Given the description of an element on the screen output the (x, y) to click on. 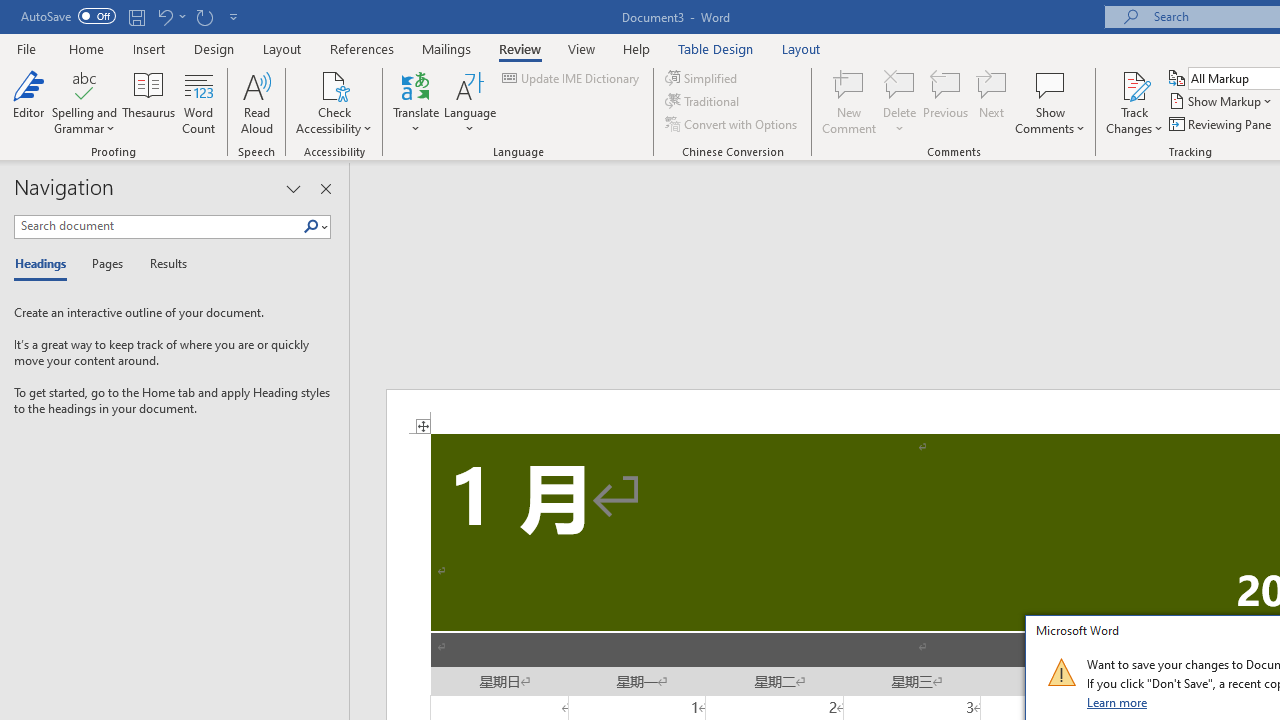
New Comment (849, 102)
Next (991, 102)
Repeat Doc Close (204, 15)
Search (311, 227)
Translate (415, 102)
Track Changes (1134, 84)
Check Accessibility (334, 84)
Close pane (325, 188)
Reviewing Pane (1221, 124)
Language (470, 102)
Update IME Dictionary... (572, 78)
Editor (28, 102)
Learn more (1118, 702)
Check Accessibility (334, 102)
